Given the description of an element on the screen output the (x, y) to click on. 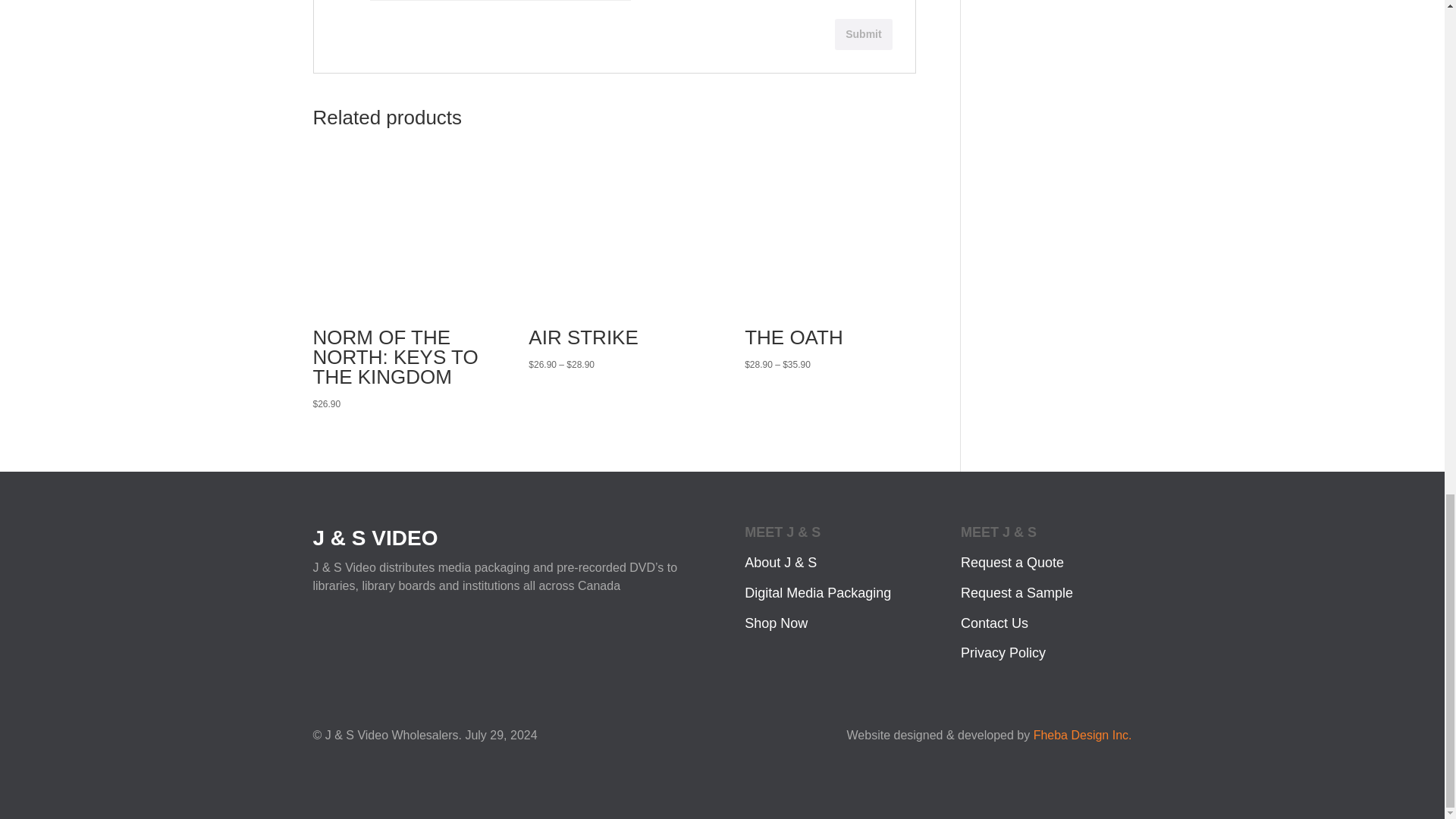
Submit (862, 33)
